Given the description of an element on the screen output the (x, y) to click on. 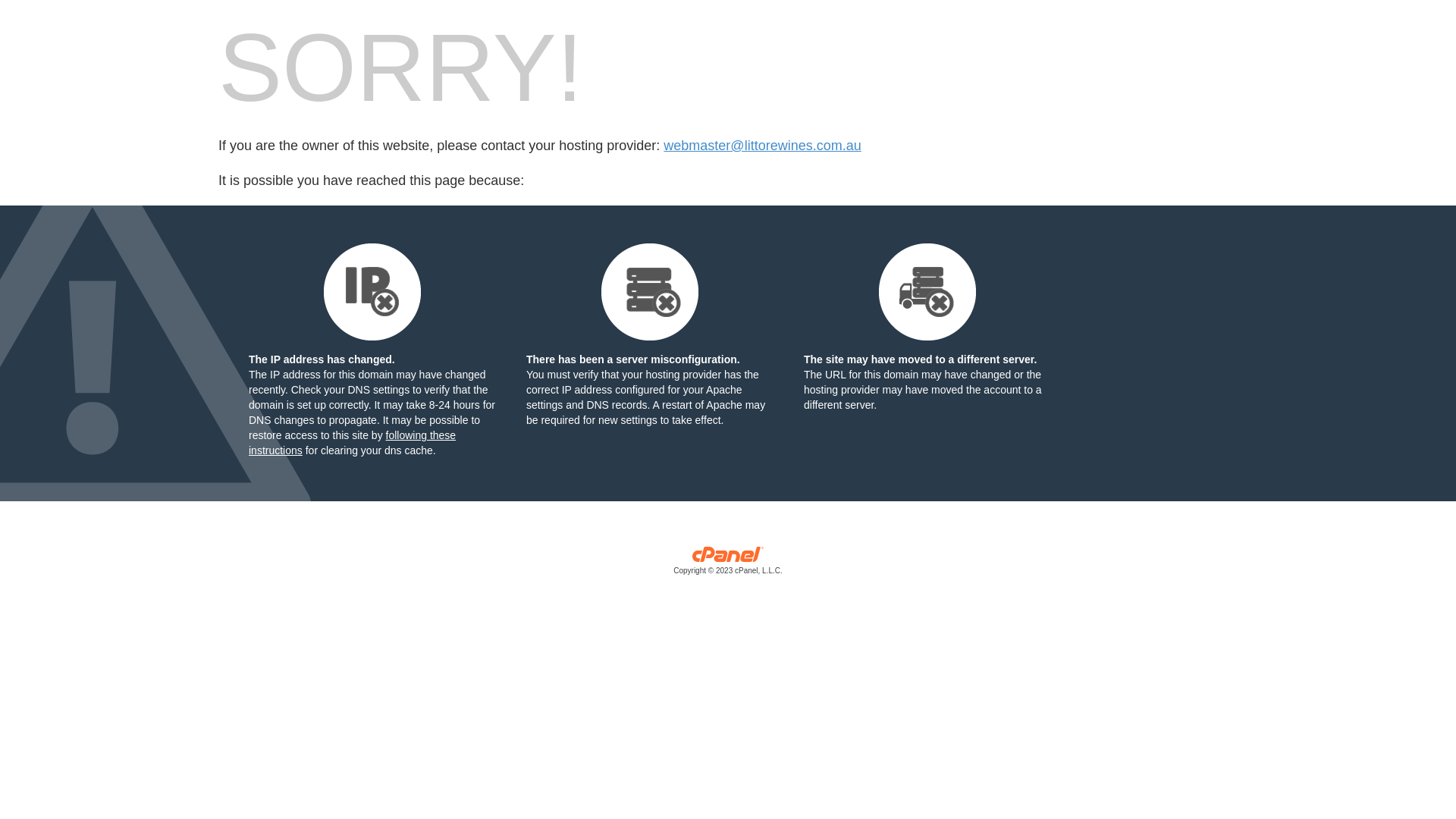
webmaster@littorewines.com.au Element type: text (761, 145)
following these instructions Element type: text (351, 442)
